Given the description of an element on the screen output the (x, y) to click on. 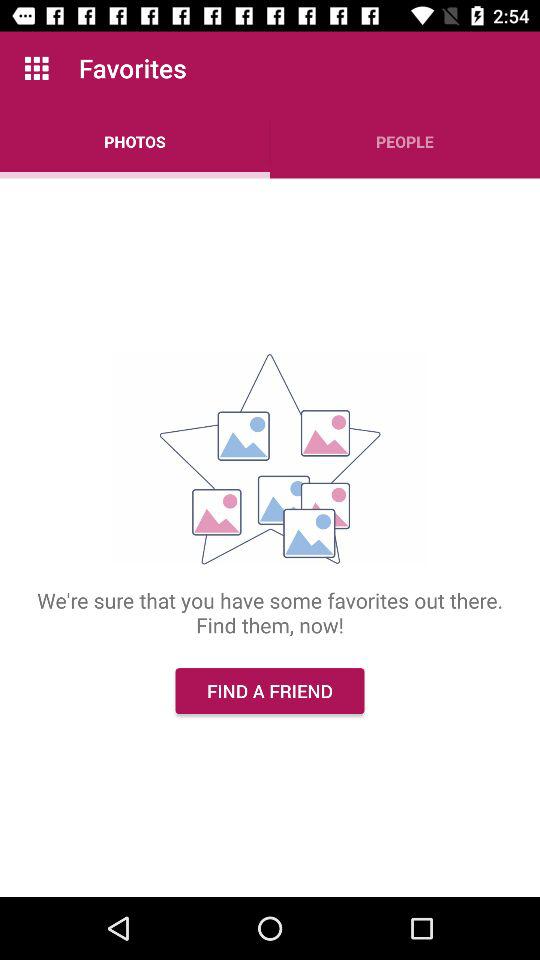
open the app to the left of people (135, 141)
